Given the description of an element on the screen output the (x, y) to click on. 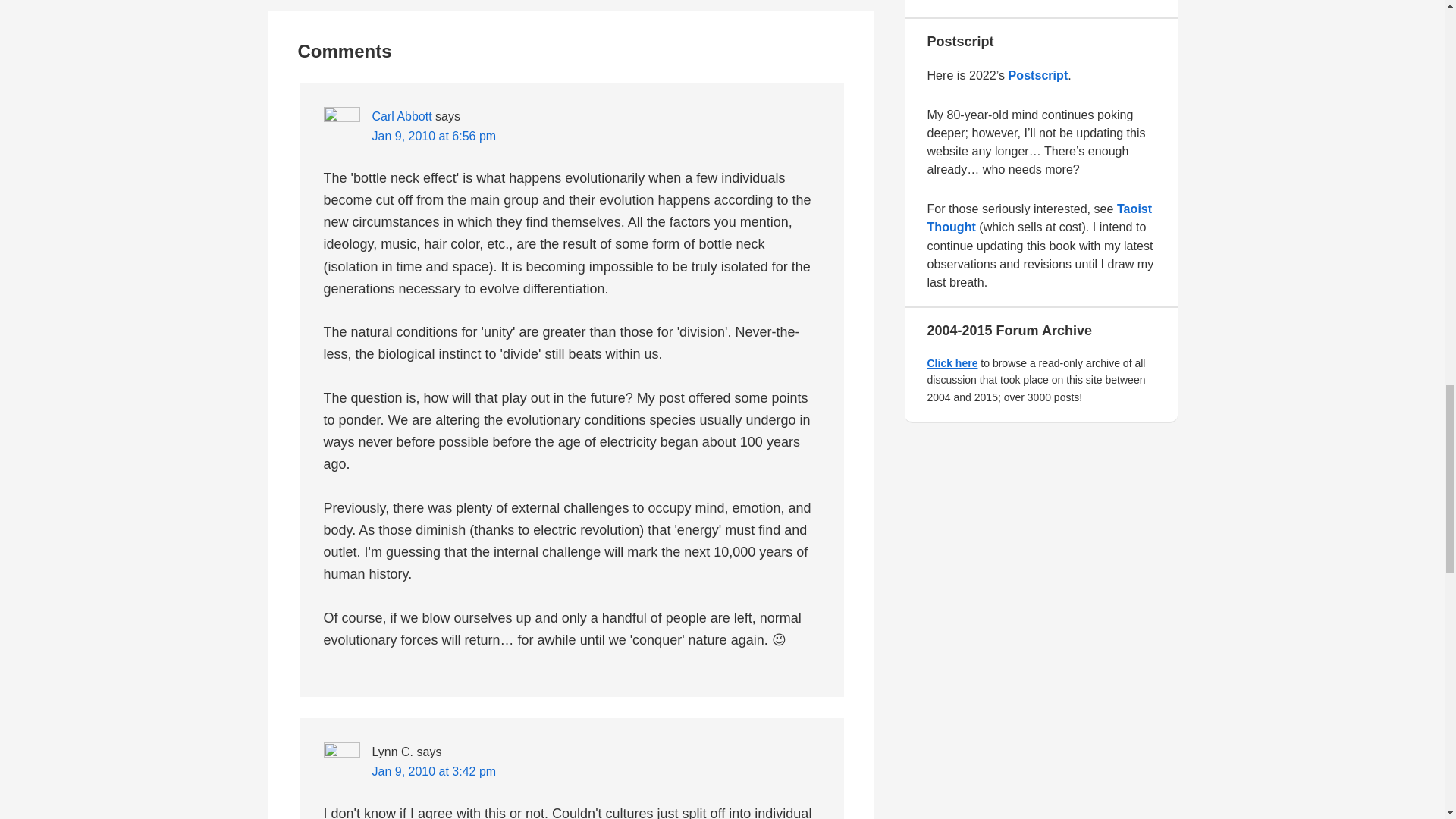
Carl Abbott (400, 115)
Jan 9, 2010 at 6:56 pm (433, 135)
Jan 9, 2010 at 3:42 pm (433, 771)
